Given the description of an element on the screen output the (x, y) to click on. 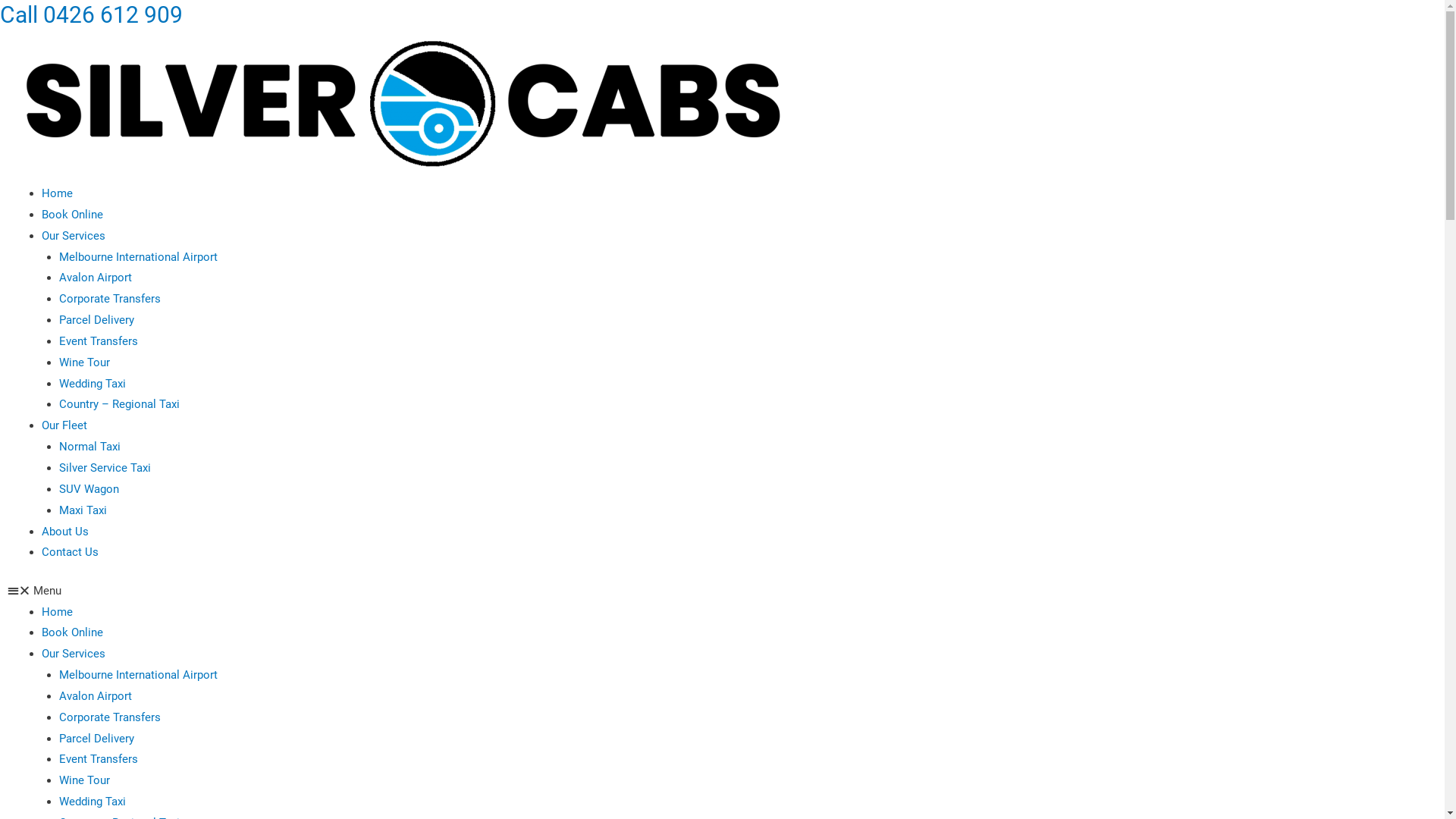
Silver Service Taxi Element type: text (104, 467)
Melbourne International Airport Element type: text (138, 674)
Home Element type: text (56, 193)
Normal Taxi Element type: text (89, 446)
Avalon Airport Element type: text (95, 277)
SUV Wagon Element type: text (89, 488)
Melbourne International Airport Element type: text (138, 256)
Our Services Element type: text (73, 653)
Home Element type: text (56, 611)
Book Online Element type: text (72, 632)
About Us Element type: text (64, 531)
Corporate Transfers Element type: text (109, 298)
Parcel Delivery Element type: text (96, 319)
Our Fleet Element type: text (64, 425)
Avalon Airport Element type: text (95, 695)
Wine Tour Element type: text (84, 362)
Maxi Taxi Element type: text (82, 510)
Event Transfers Element type: text (98, 341)
Call 0426 612 909 Element type: text (91, 14)
Event Transfers Element type: text (98, 758)
Wedding Taxi Element type: text (92, 383)
Parcel Delivery Element type: text (96, 738)
Wedding Taxi Element type: text (92, 801)
Wine Tour Element type: text (84, 780)
Contact Us Element type: text (69, 551)
Corporate Transfers Element type: text (109, 717)
Book Online Element type: text (72, 214)
Our Services Element type: text (73, 235)
